Given the description of an element on the screen output the (x, y) to click on. 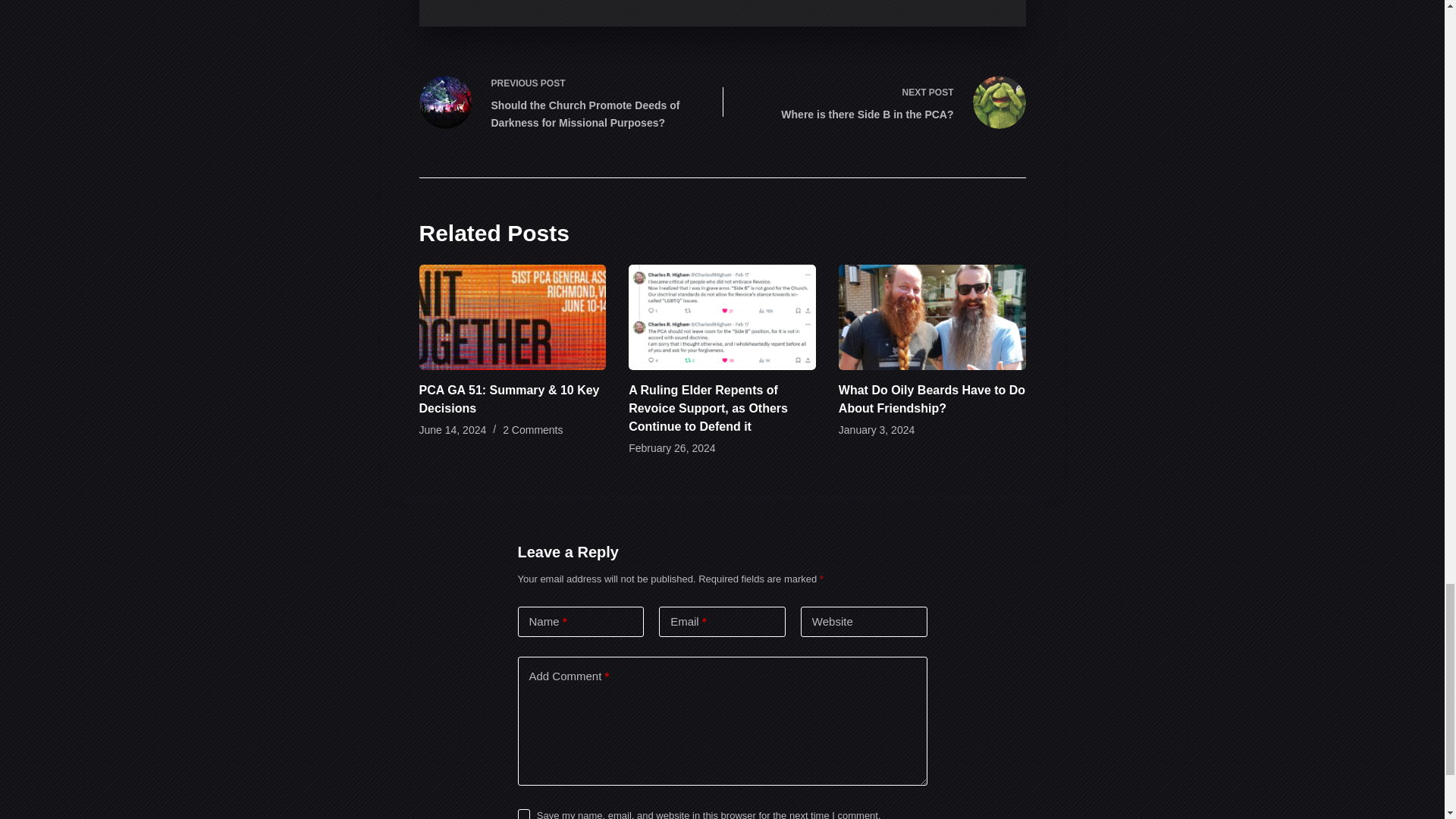
yes (522, 814)
